Given the description of an element on the screen output the (x, y) to click on. 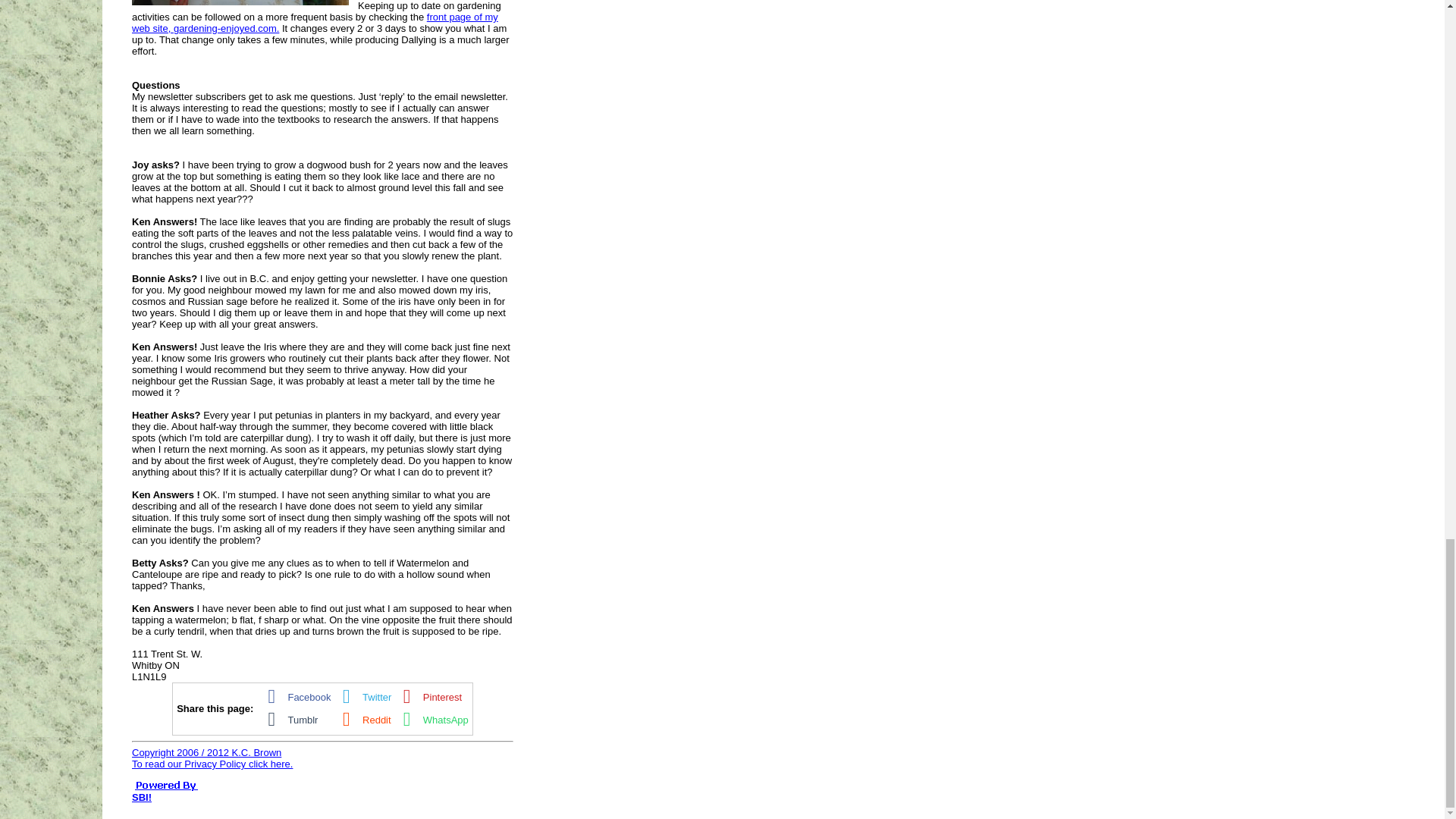
Pinterest (427, 695)
Tumblr (288, 717)
Twitter (362, 695)
front page of my web site, gardening-enjoyed.com. (314, 22)
WhatsApp (430, 717)
Reddit (362, 717)
Facebook (295, 695)
SBI! (141, 797)
